Given the description of an element on the screen output the (x, y) to click on. 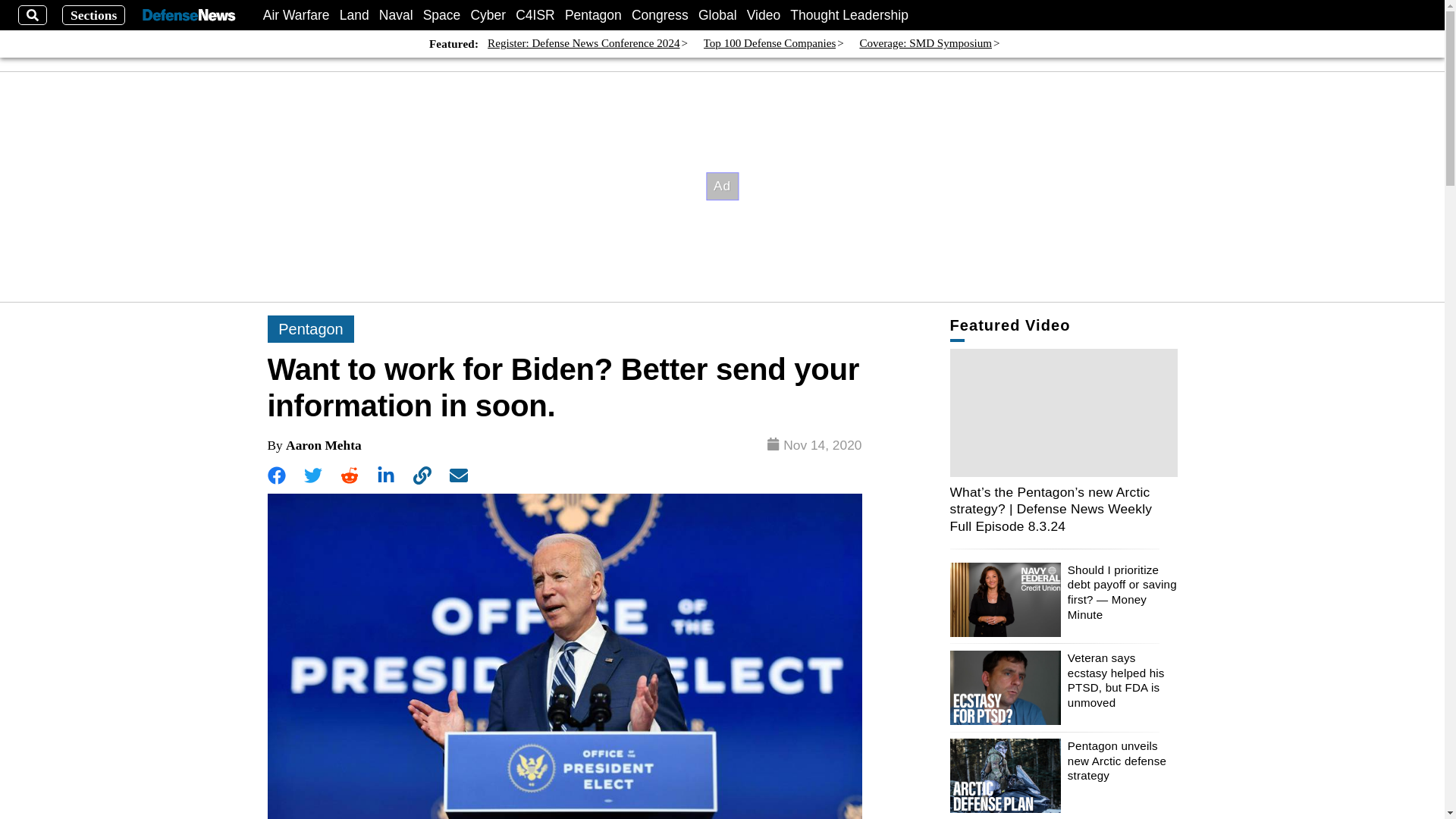
Video (763, 14)
Air Warfare (296, 14)
Global (717, 14)
Sections (93, 14)
Land (354, 14)
Thought Leadership (849, 14)
Space (442, 14)
Congress (659, 14)
Pentagon (592, 14)
